Given the description of an element on the screen output the (x, y) to click on. 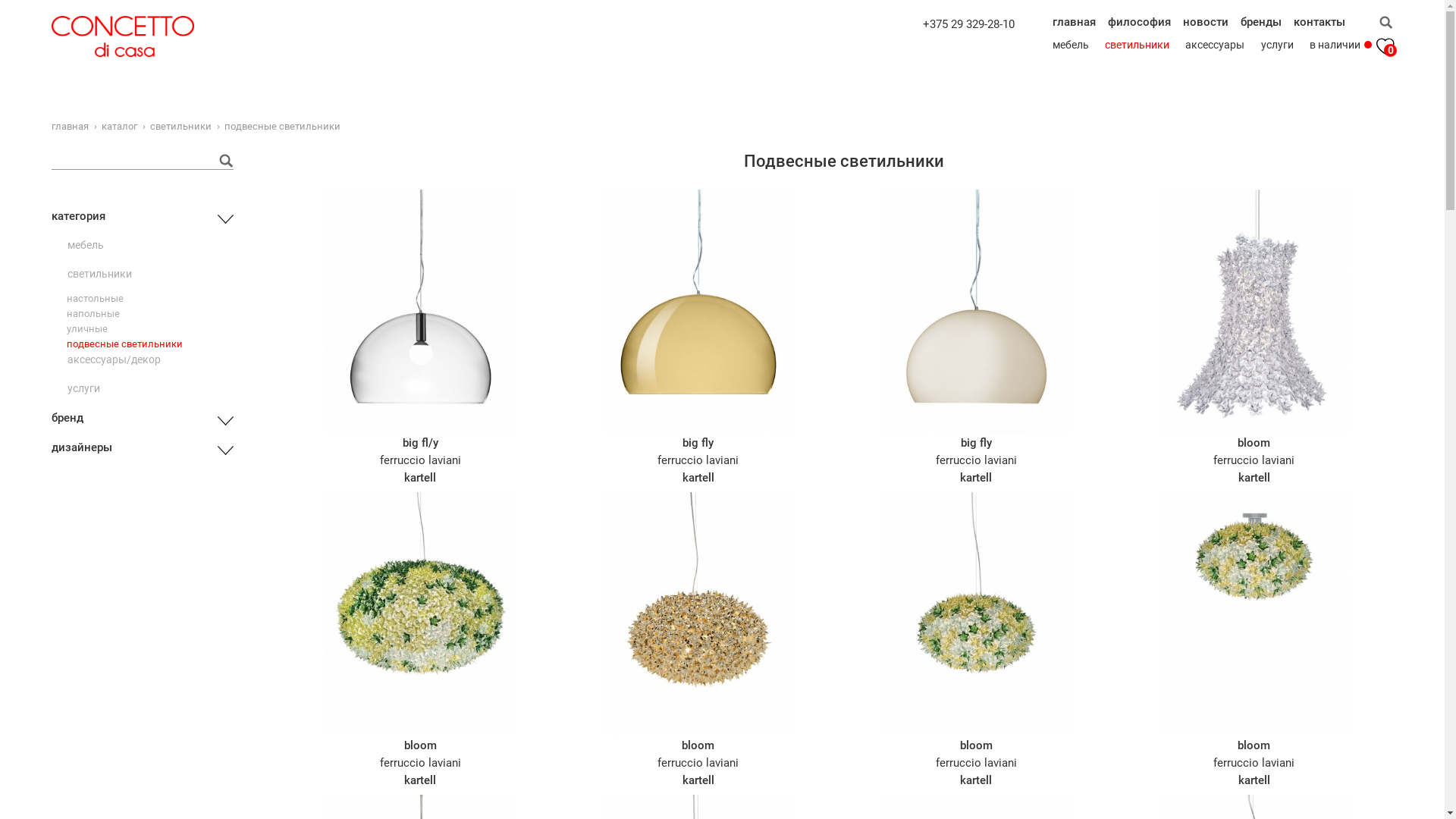
big fly
ferruccio laviani
kartell Element type: text (697, 336)
bloom
ferruccio laviani
kartell Element type: text (975, 639)
+375 29 329-28-10 Element type: text (968, 24)
big fly
ferruccio laviani
kartell Element type: text (975, 336)
bloom
ferruccio laviani
kartell Element type: text (1253, 639)
big fl/y
ferruccio laviani
kartell Element type: text (420, 336)
bloom
ferruccio laviani
kartell Element type: text (420, 639)
bloom
ferruccio laviani
kartell Element type: text (697, 639)
0 Element type: text (1385, 45)
bloom
ferruccio laviani
kartell Element type: text (1253, 336)
